Given the description of an element on the screen output the (x, y) to click on. 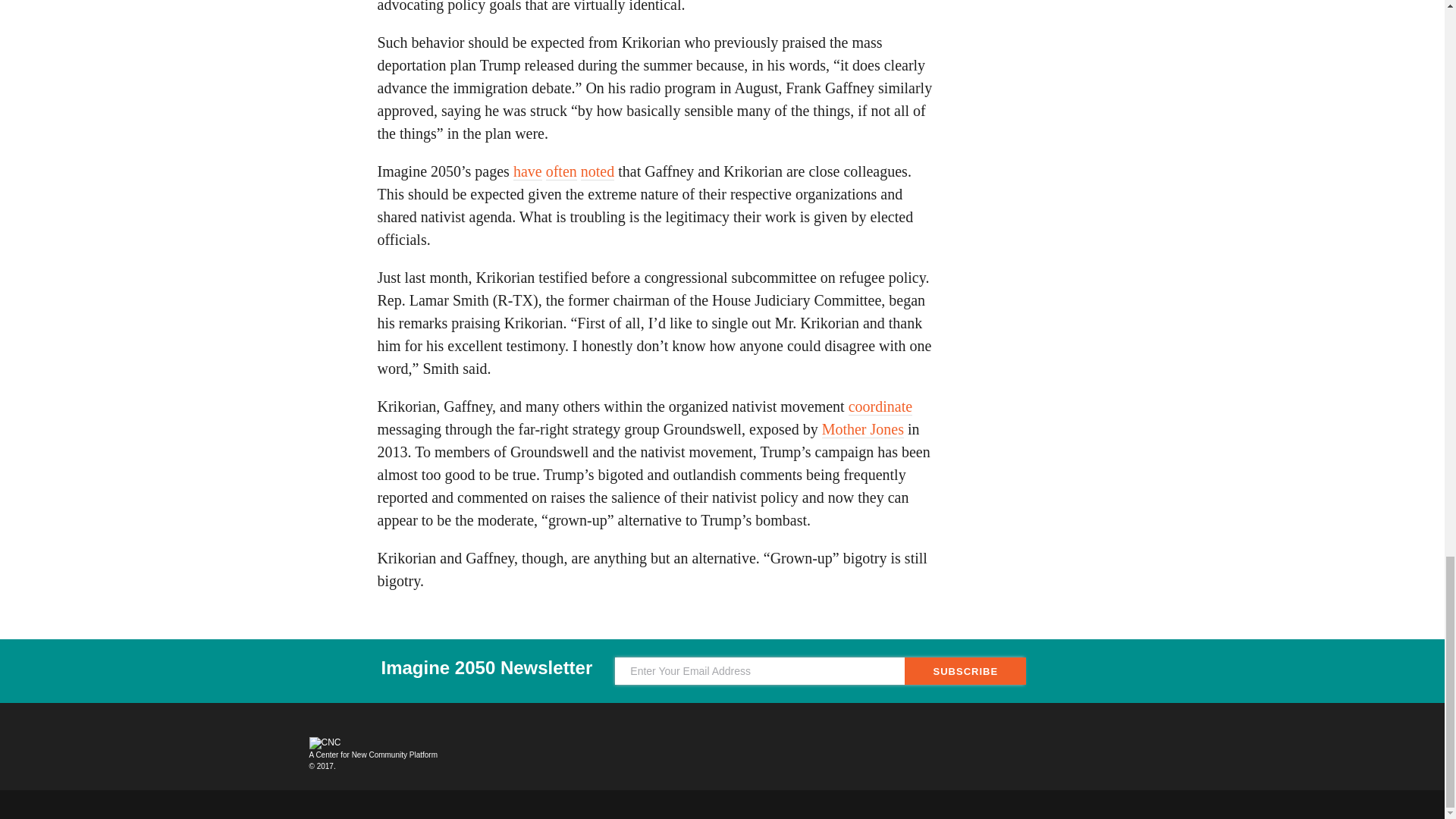
Subscribe (965, 670)
have (527, 171)
CNC (324, 743)
often (561, 171)
